Given the description of an element on the screen output the (x, y) to click on. 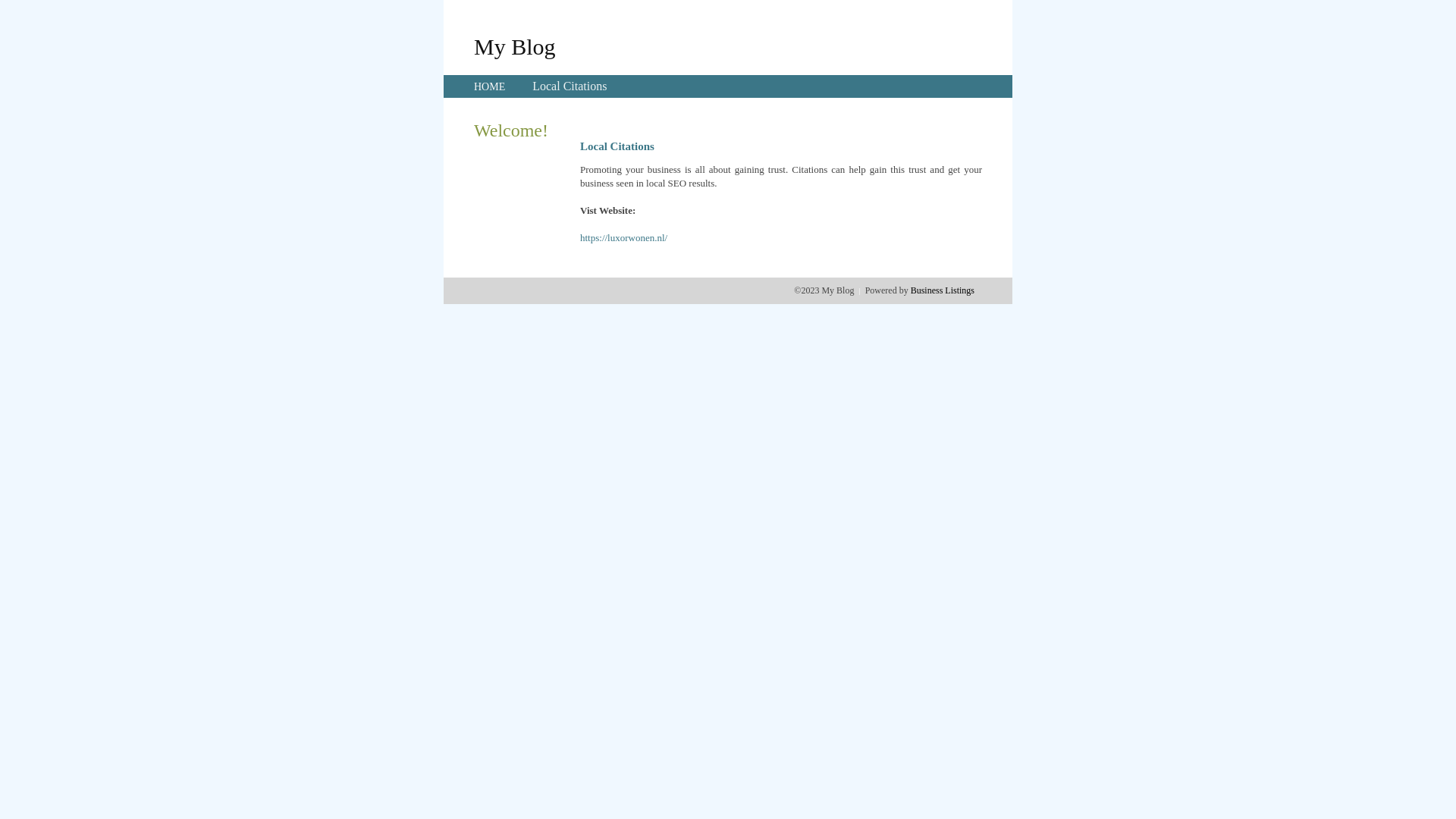
Business Listings Element type: text (942, 290)
Local Citations Element type: text (569, 85)
My Blog Element type: text (514, 46)
https://luxorwonen.nl/ Element type: text (623, 237)
HOME Element type: text (489, 86)
